Given the description of an element on the screen output the (x, y) to click on. 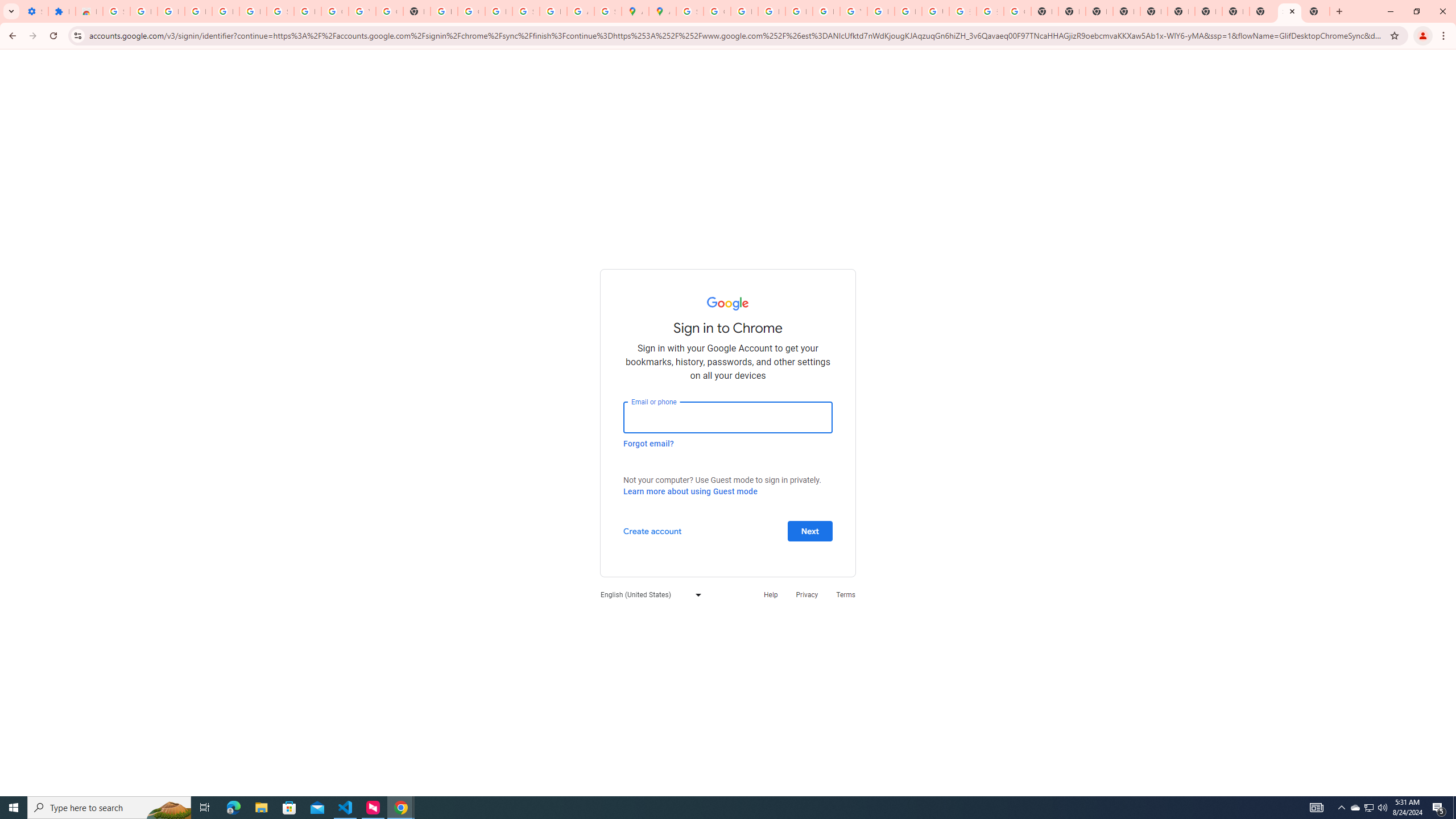
Settings - On startup (34, 11)
New Tab (1316, 11)
Delete photos & videos - Computer - Google Photos Help (197, 11)
Sign in - Google Accounts (1289, 11)
Safety in Our Products - Google Safety Center (607, 11)
